Given the description of an element on the screen output the (x, y) to click on. 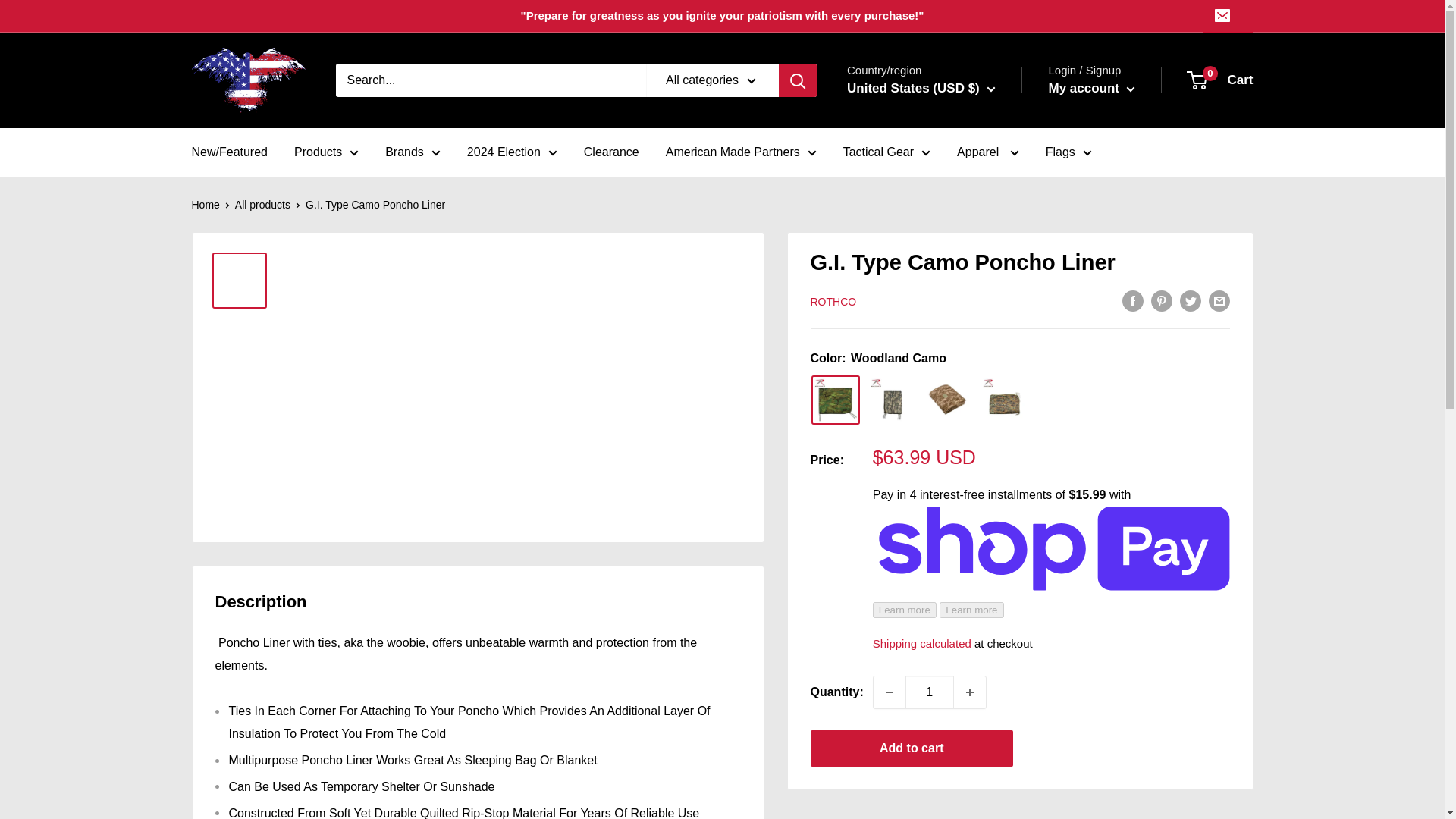
Woodland Digital Camo (1003, 400)
Decrease quantity by 1 (889, 692)
Increase quantity by 1 (969, 692)
Woodland Camo (835, 400)
1 (929, 692)
Desert Digital Camo (947, 399)
ACU Digital Camo (891, 400)
